Given the description of an element on the screen output the (x, y) to click on. 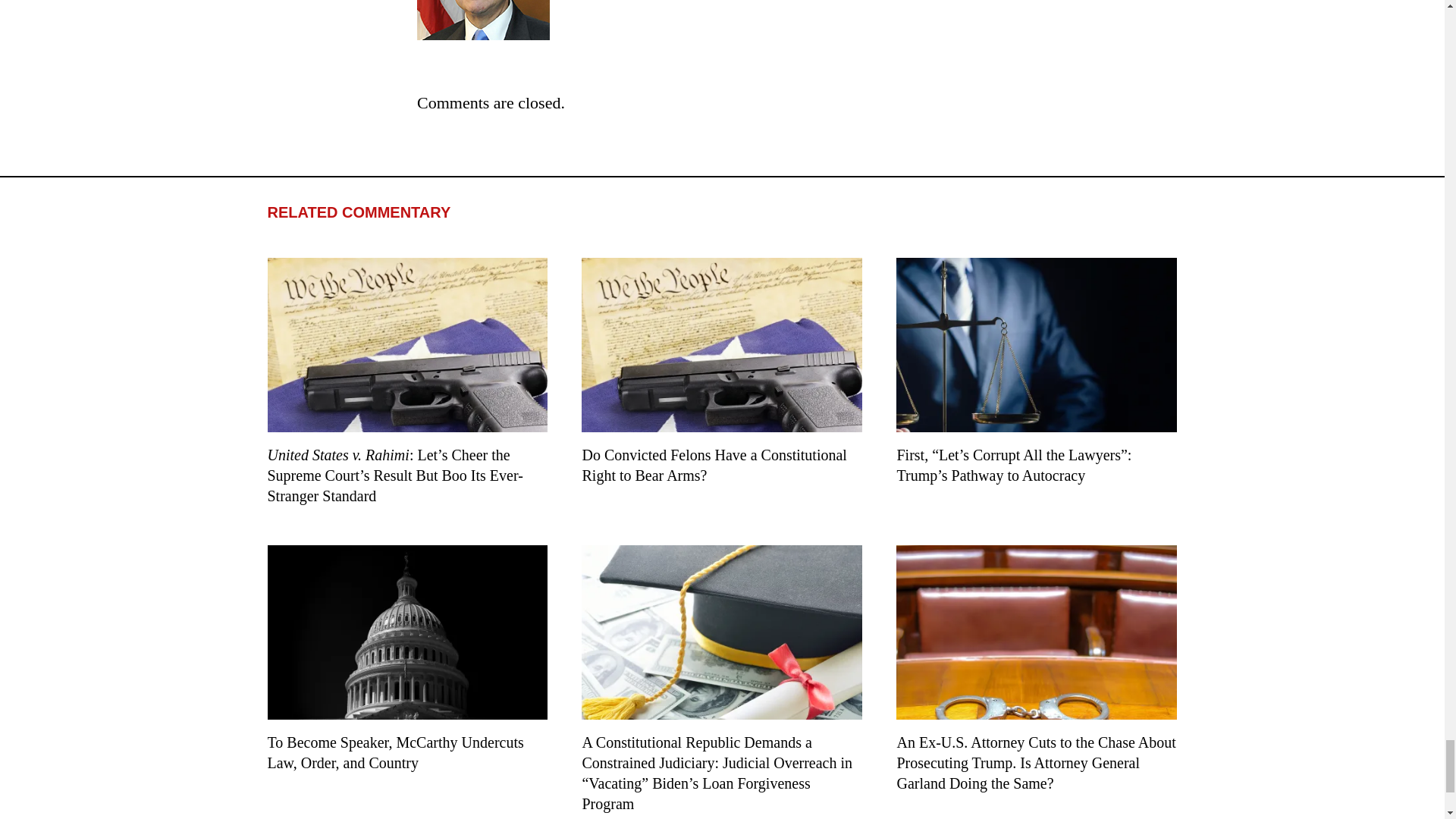
Laurence H. Tribe (483, 20)
